Given the description of an element on the screen output the (x, y) to click on. 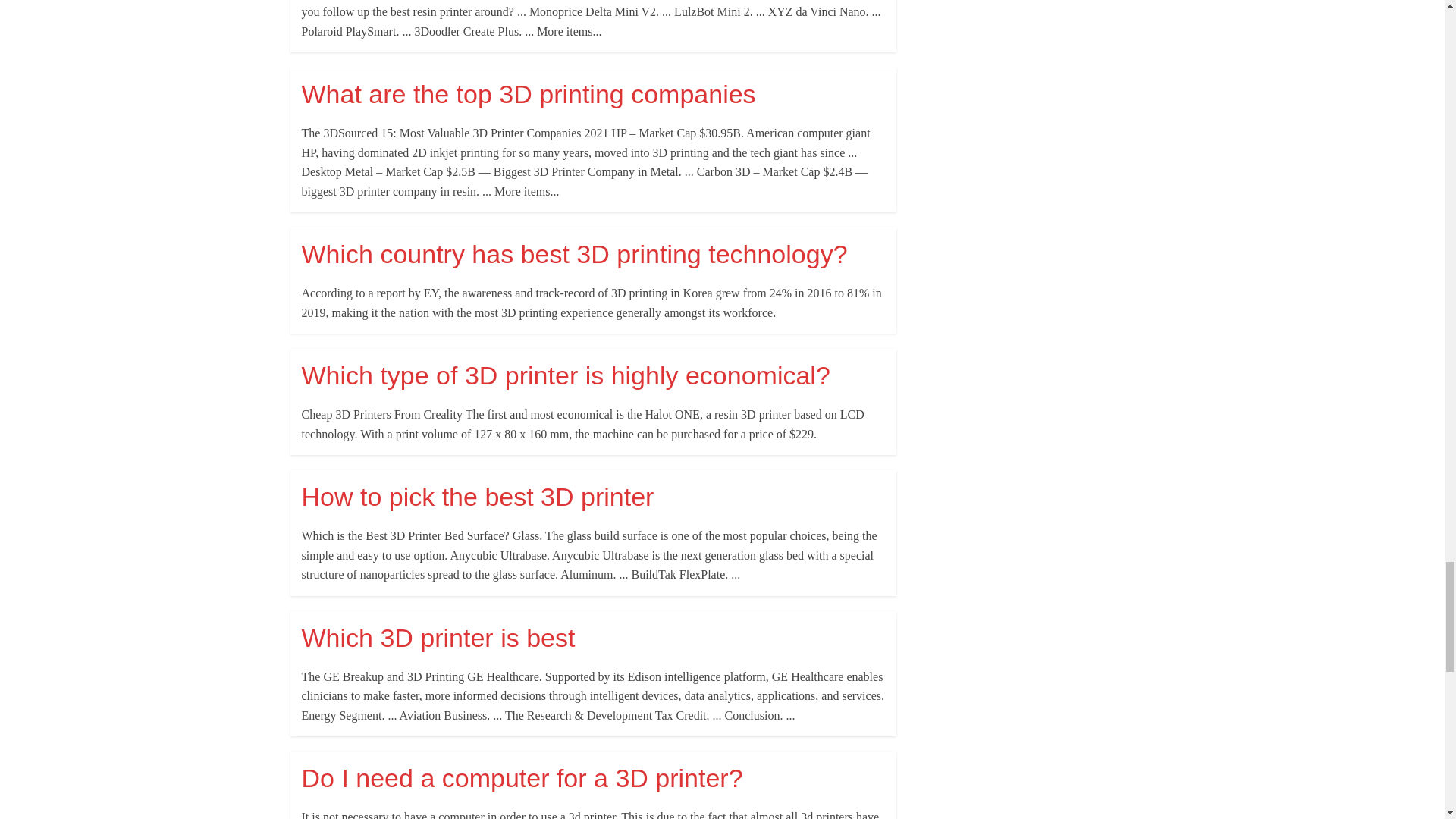
Which type of 3D printer is highly economical? (565, 375)
How to pick the best 3D printer (477, 496)
What are the top 3D printing companies (528, 93)
Do I need a computer for a 3D printer? (521, 777)
Which 3D printer is best (438, 637)
Which country has best 3D printing technology? (574, 253)
